Given the description of an element on the screen output the (x, y) to click on. 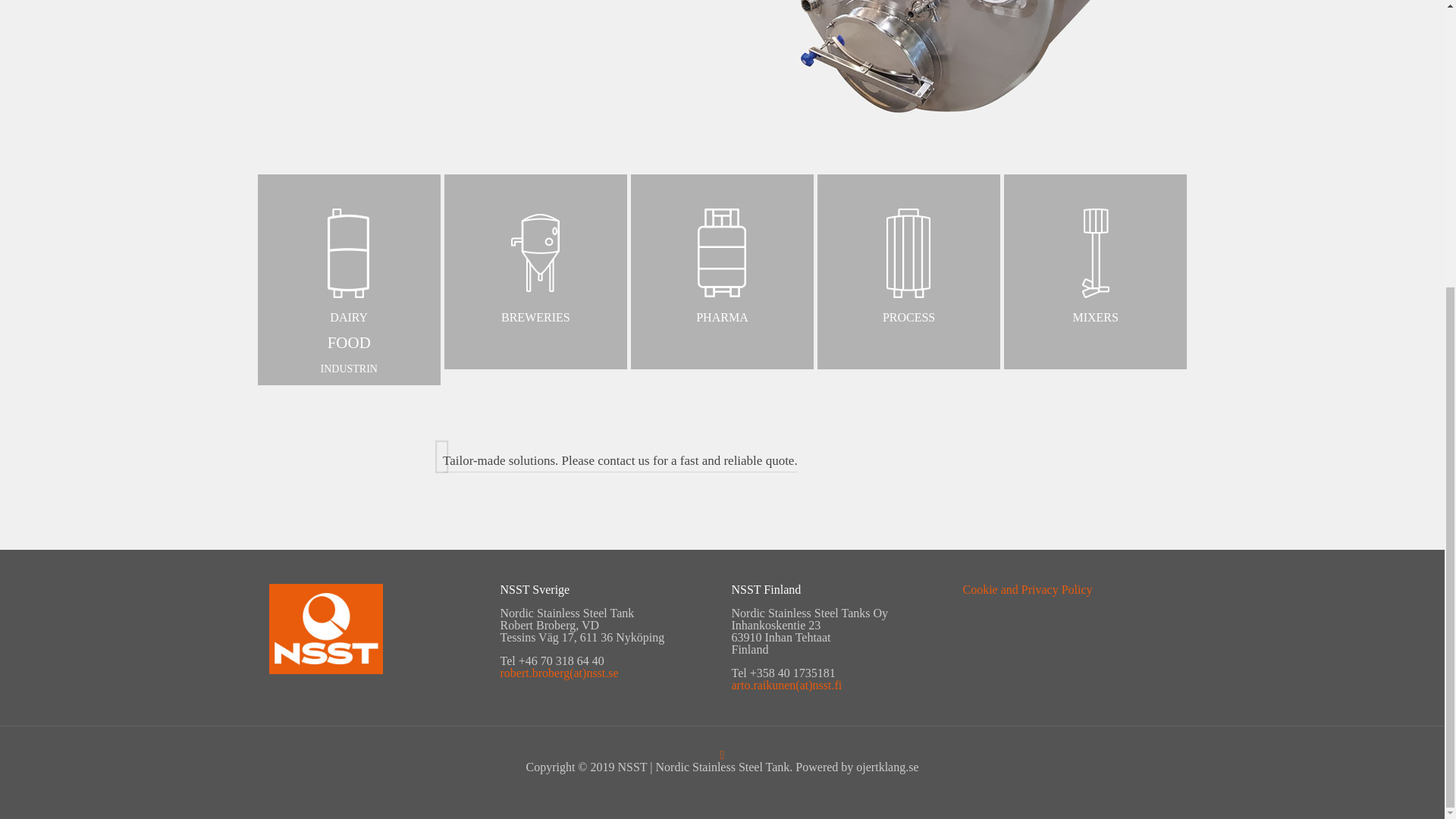
BREWERIES (535, 265)
PROCESS (908, 265)
PHARMA (722, 265)
Cookie and Privacy Policy (1027, 589)
MIXERS (349, 279)
